Given the description of an element on the screen output the (x, y) to click on. 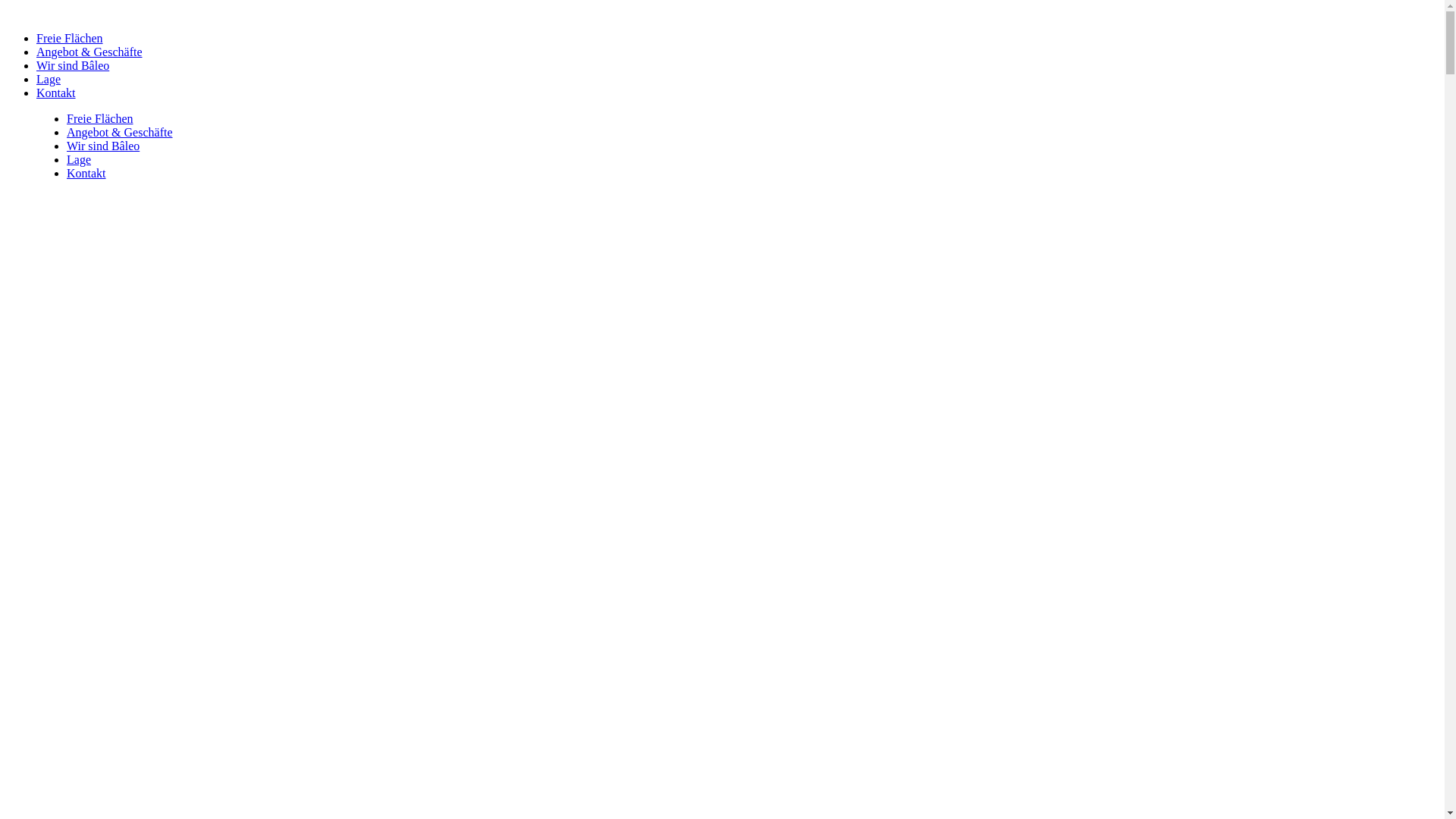
Lage Element type: text (78, 159)
Kontakt Element type: text (55, 92)
Lage Element type: text (48, 78)
Kontakt Element type: text (86, 172)
